Given the description of an element on the screen output the (x, y) to click on. 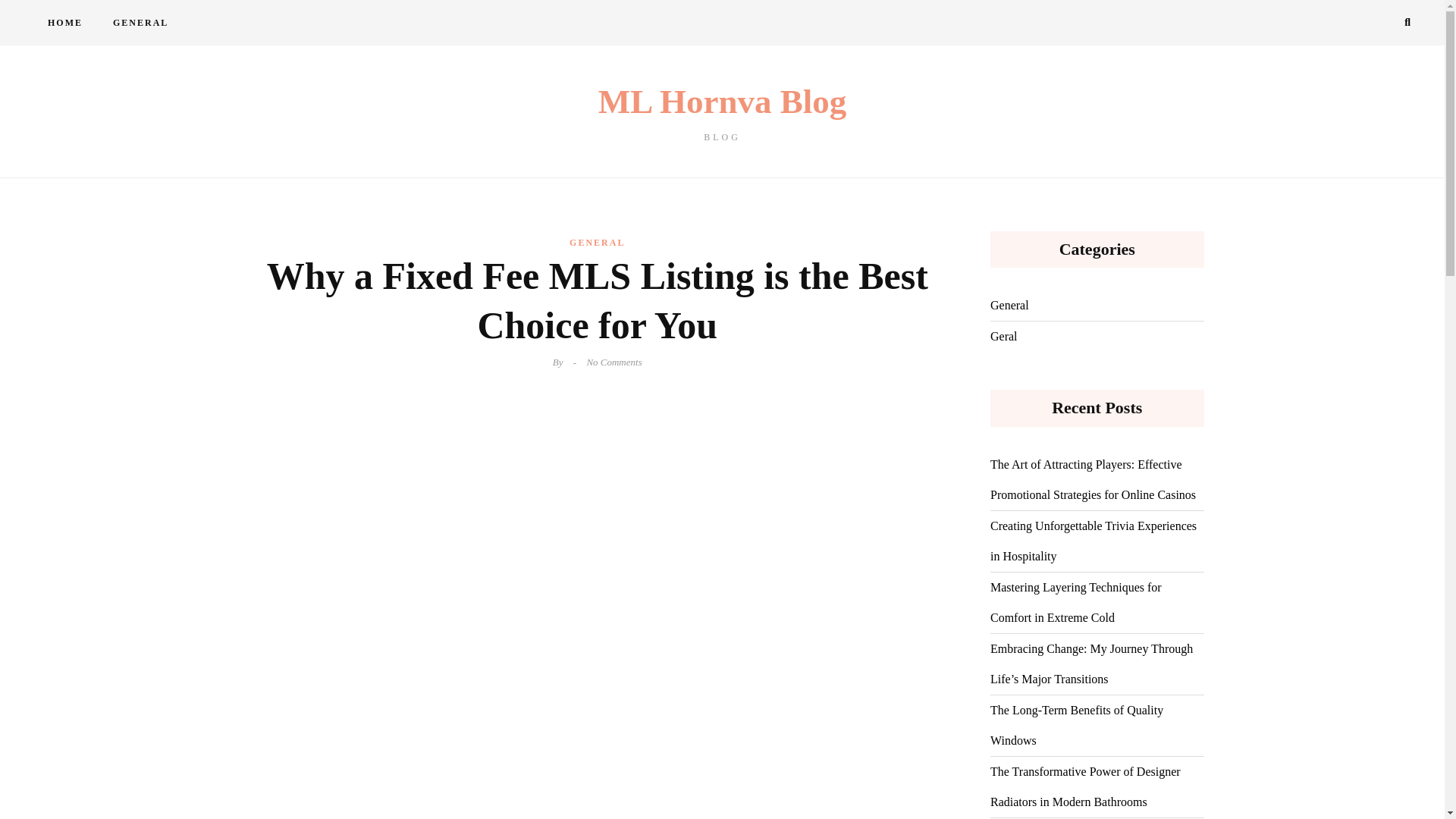
General (1009, 305)
GENERAL (596, 241)
The Long-Term Benefits of Quality Windows (1097, 725)
GENERAL (140, 22)
Mastering Layering Techniques for Comfort in Extreme Cold (1097, 602)
HOME (64, 22)
Creating Unforgettable Trivia Experiences in Hospitality (721, 112)
